Given the description of an element on the screen output the (x, y) to click on. 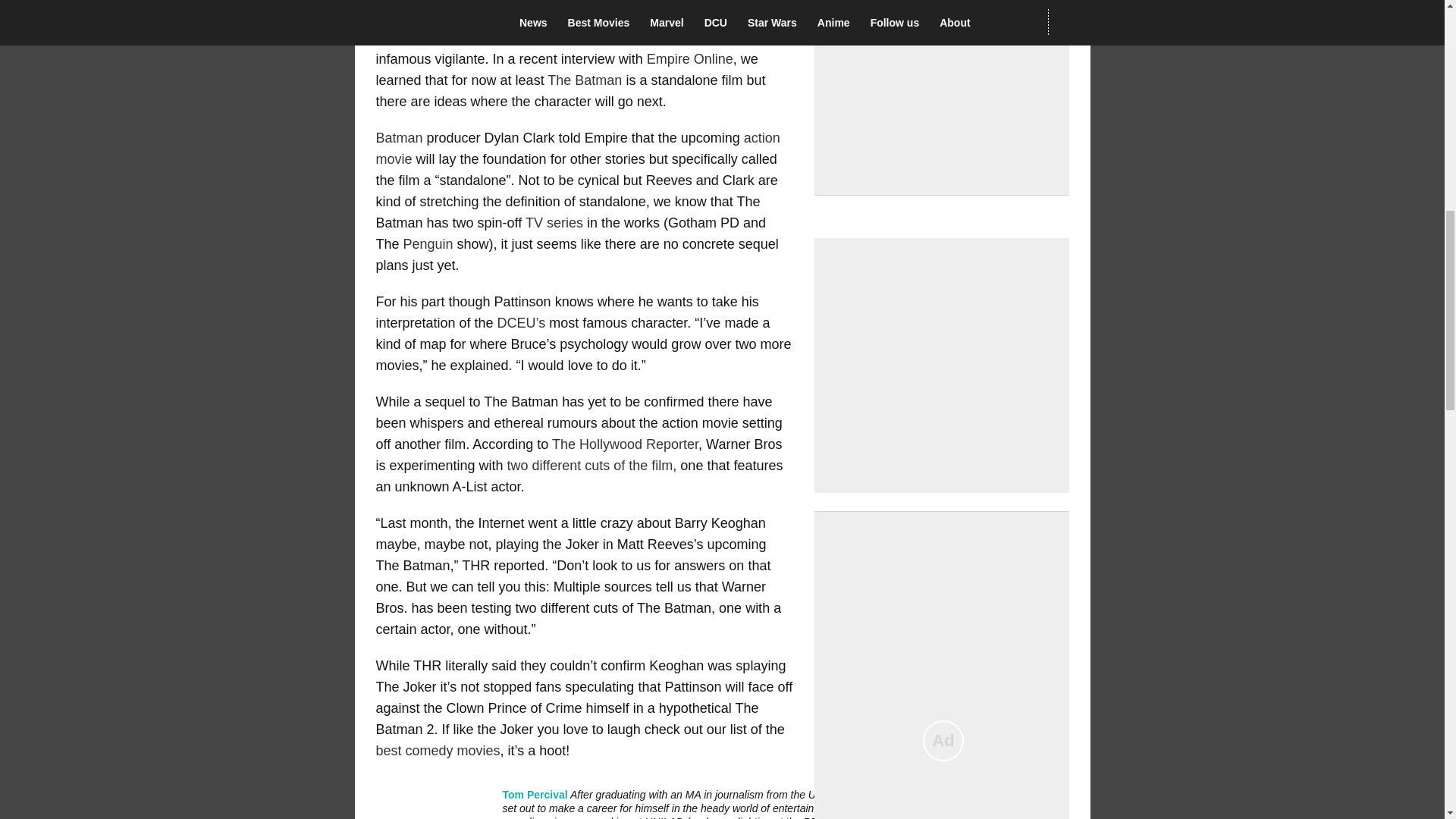
TV series (554, 222)
Empire Online (689, 58)
The Batman (741, 1)
The Batman (584, 79)
action movie (577, 148)
Batman (400, 137)
